Given the description of an element on the screen output the (x, y) to click on. 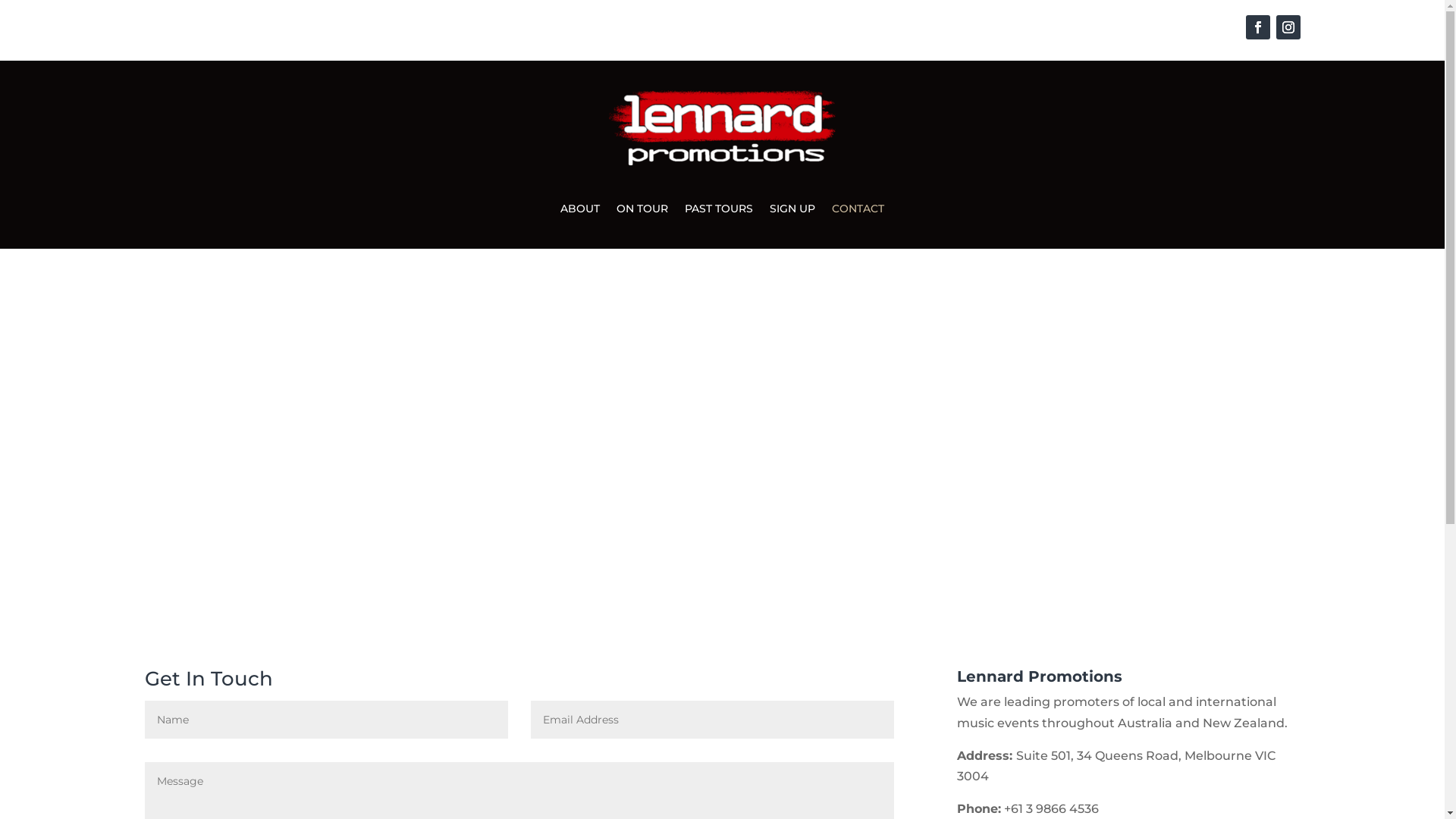
PAST TOURS Element type: text (718, 211)
Follow on Facebook Element type: hover (1257, 27)
Follow on Instagram Element type: hover (1287, 27)
SIGN UP Element type: text (792, 211)
CONTACT Element type: text (857, 211)
LennardPormotions_logo_edited_300px Element type: hover (721, 127)
ABOUT Element type: text (579, 211)
ON TOUR Element type: text (642, 211)
